Given the description of an element on the screen output the (x, y) to click on. 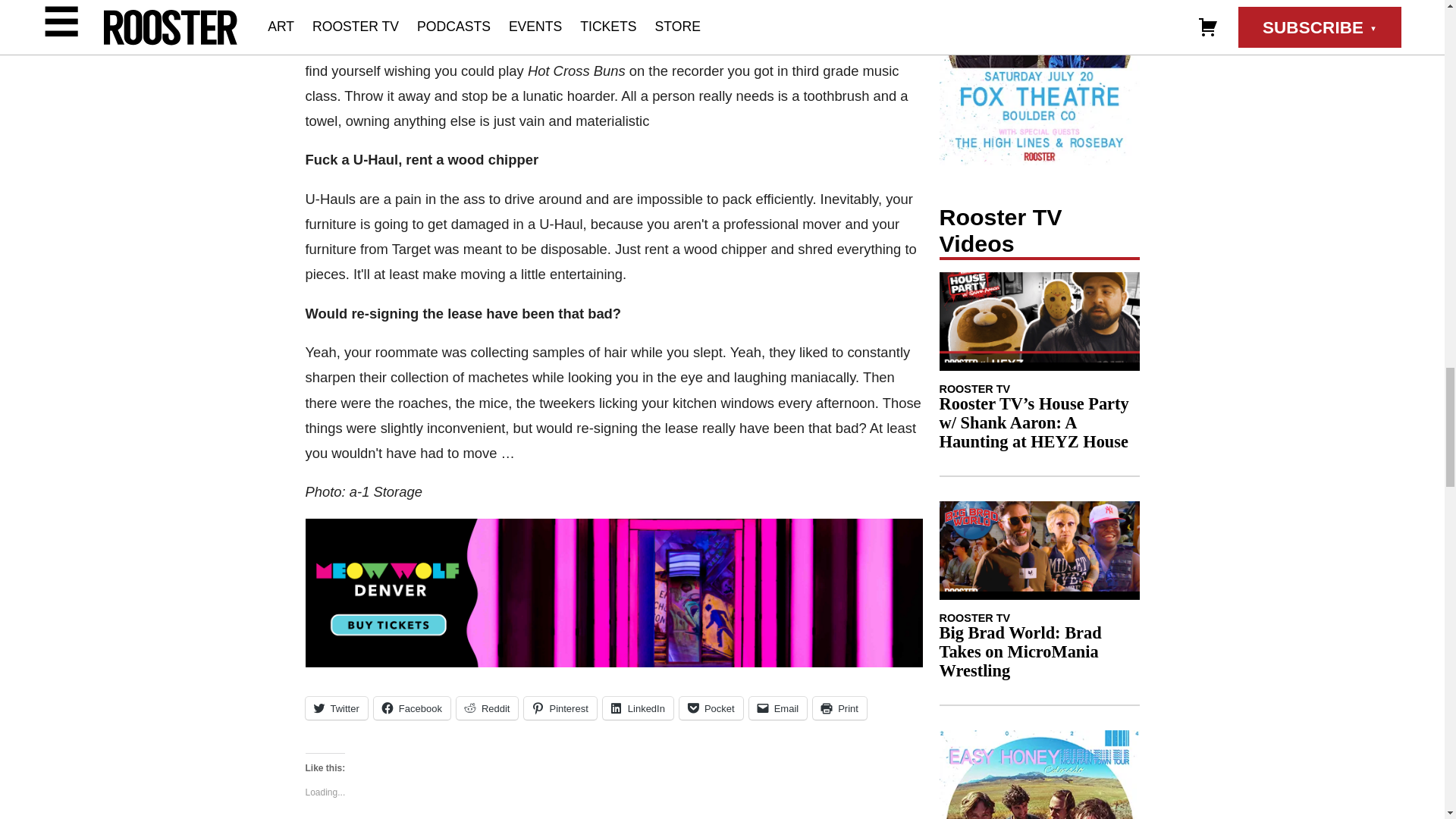
Click to share on Reddit (487, 707)
Click to share on Twitter (335, 707)
Click to print (839, 707)
Click to share on Pocket (710, 707)
Click to email a link to a friend (778, 707)
Click to share on Pinterest (559, 707)
Click to share on LinkedIn (637, 707)
Click to share on Facebook (411, 707)
